Given the description of an element on the screen output the (x, y) to click on. 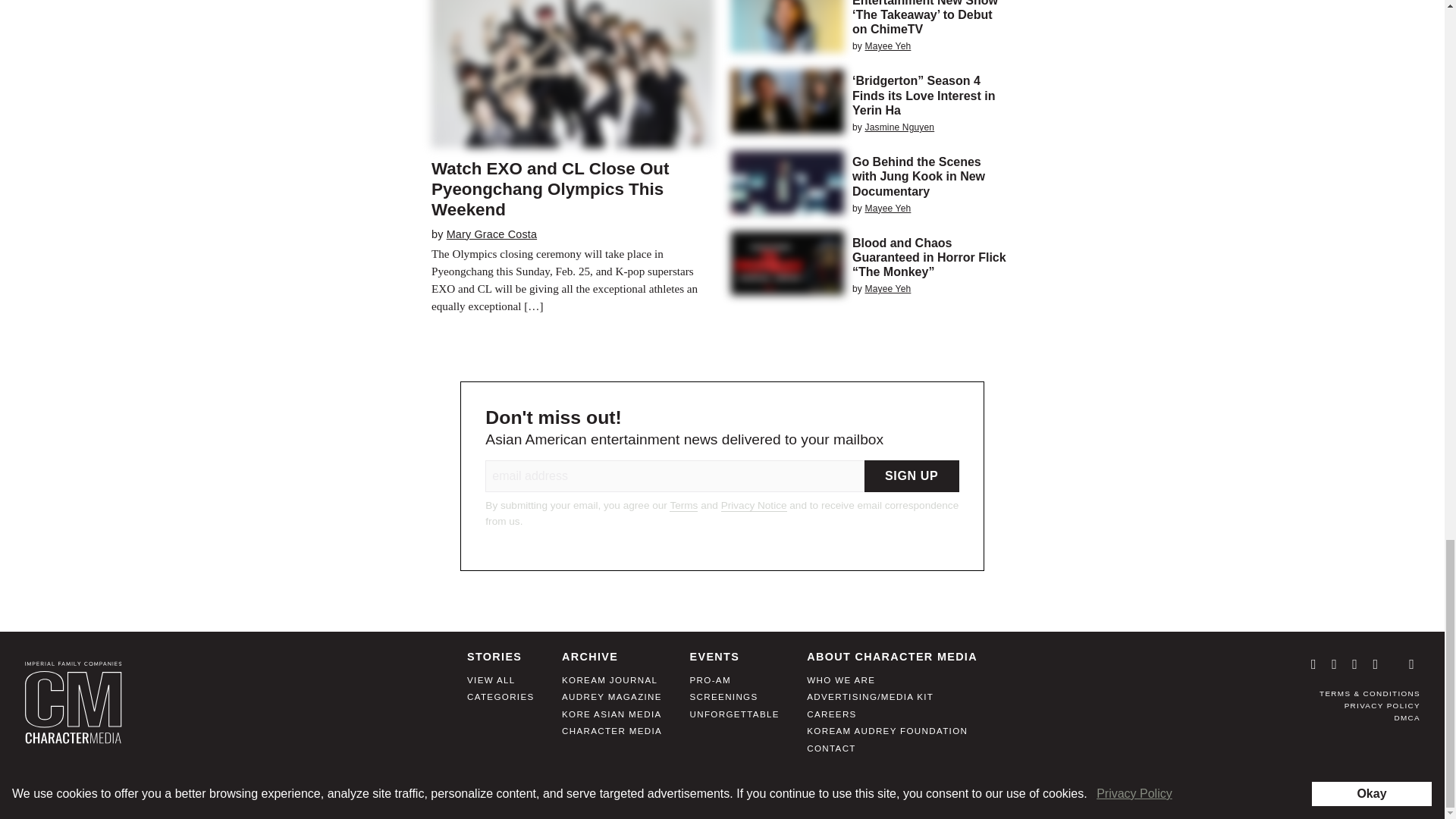
KoreAm Audrey Foundation (887, 736)
Mary Grace Costa (491, 234)
Sign Up (911, 476)
Watch EXO and CL Close Out Pyeongchang Olympics This Weekend (549, 188)
